Given the description of an element on the screen output the (x, y) to click on. 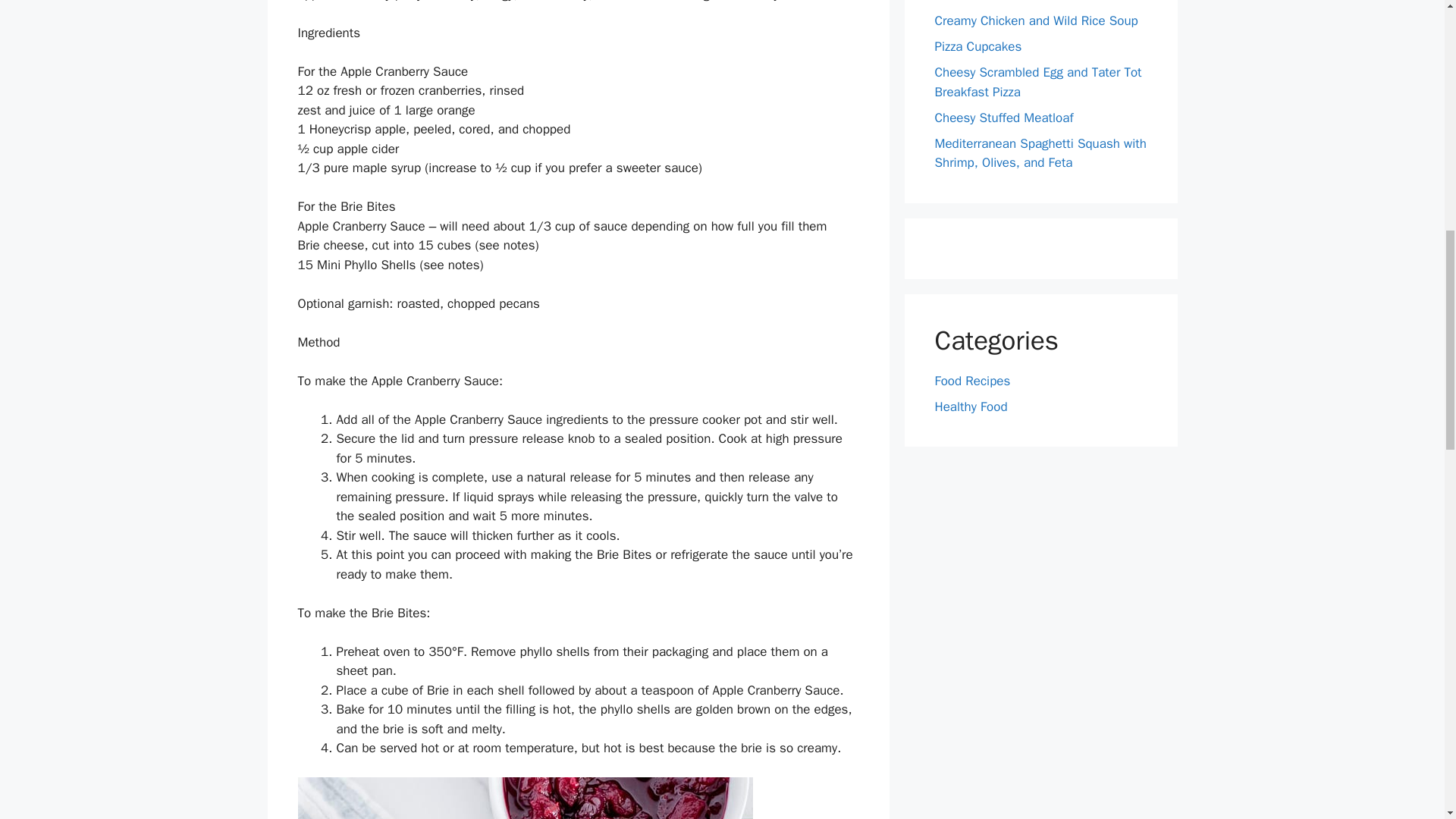
Pizza Cupcakes (978, 46)
Cheesy Scrambled Egg and Tater Tot Breakfast Pizza (1037, 81)
Cheesy Stuffed Meatloaf (1003, 116)
Food Recipes (972, 381)
Creamy Chicken and Wild Rice Soup (1035, 20)
Mediterranean Spaghetti Squash with Shrimp, Olives, and Feta (1039, 152)
Healthy Food (970, 406)
